Given the description of an element on the screen output the (x, y) to click on. 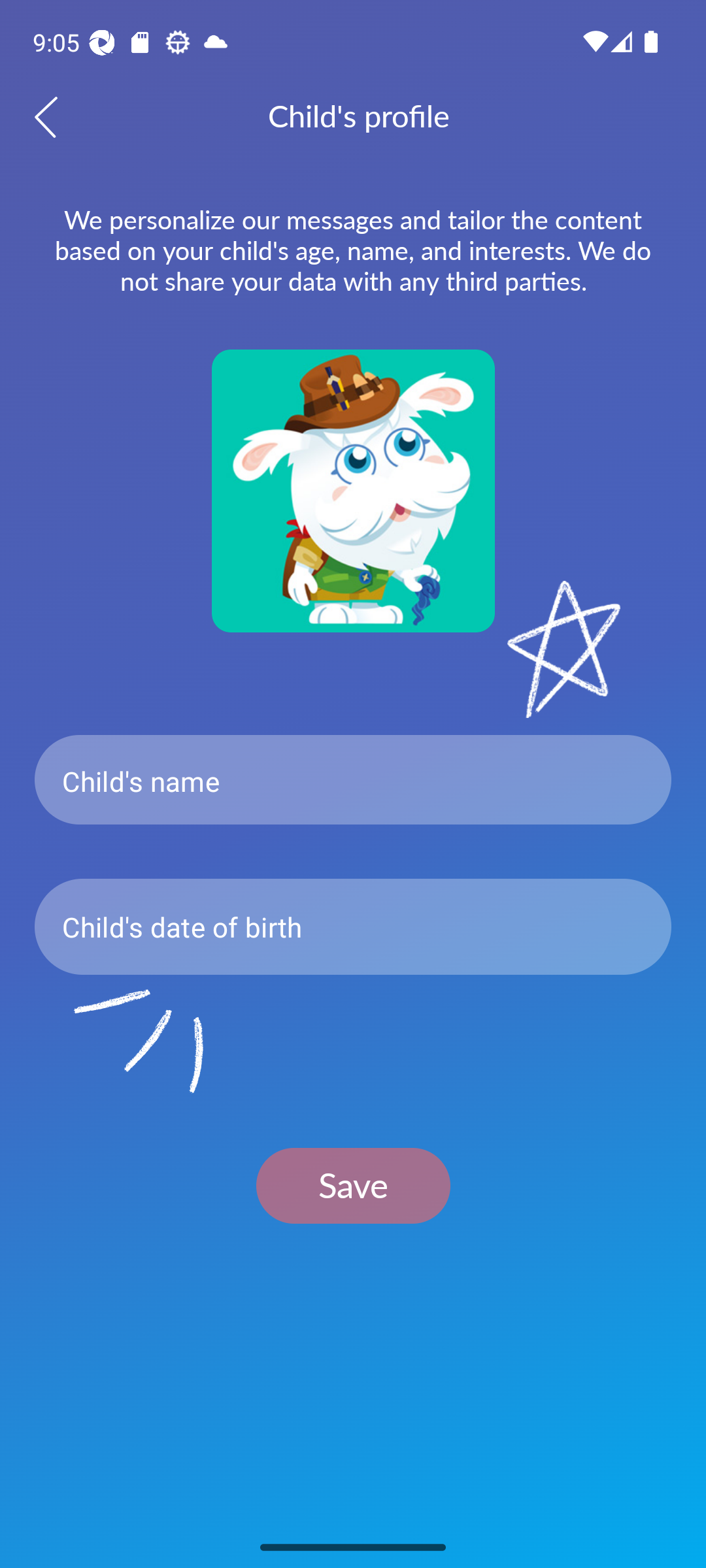
Child's name (352, 779)
Child's date of birth (352, 926)
Save (353, 1185)
